Given the description of an element on the screen output the (x, y) to click on. 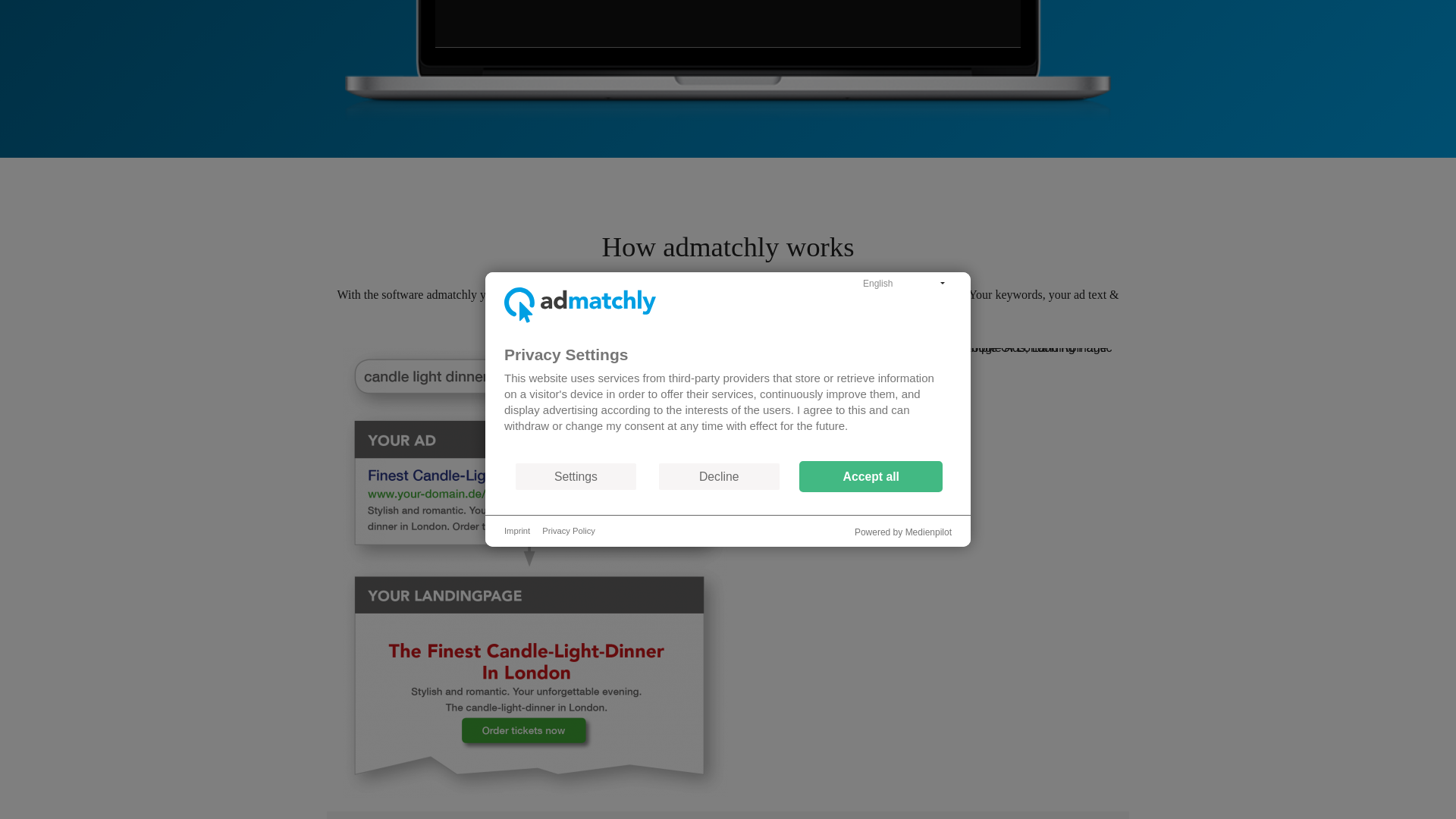
Admatchly - Demofilm (727, 23)
